Given the description of an element on the screen output the (x, y) to click on. 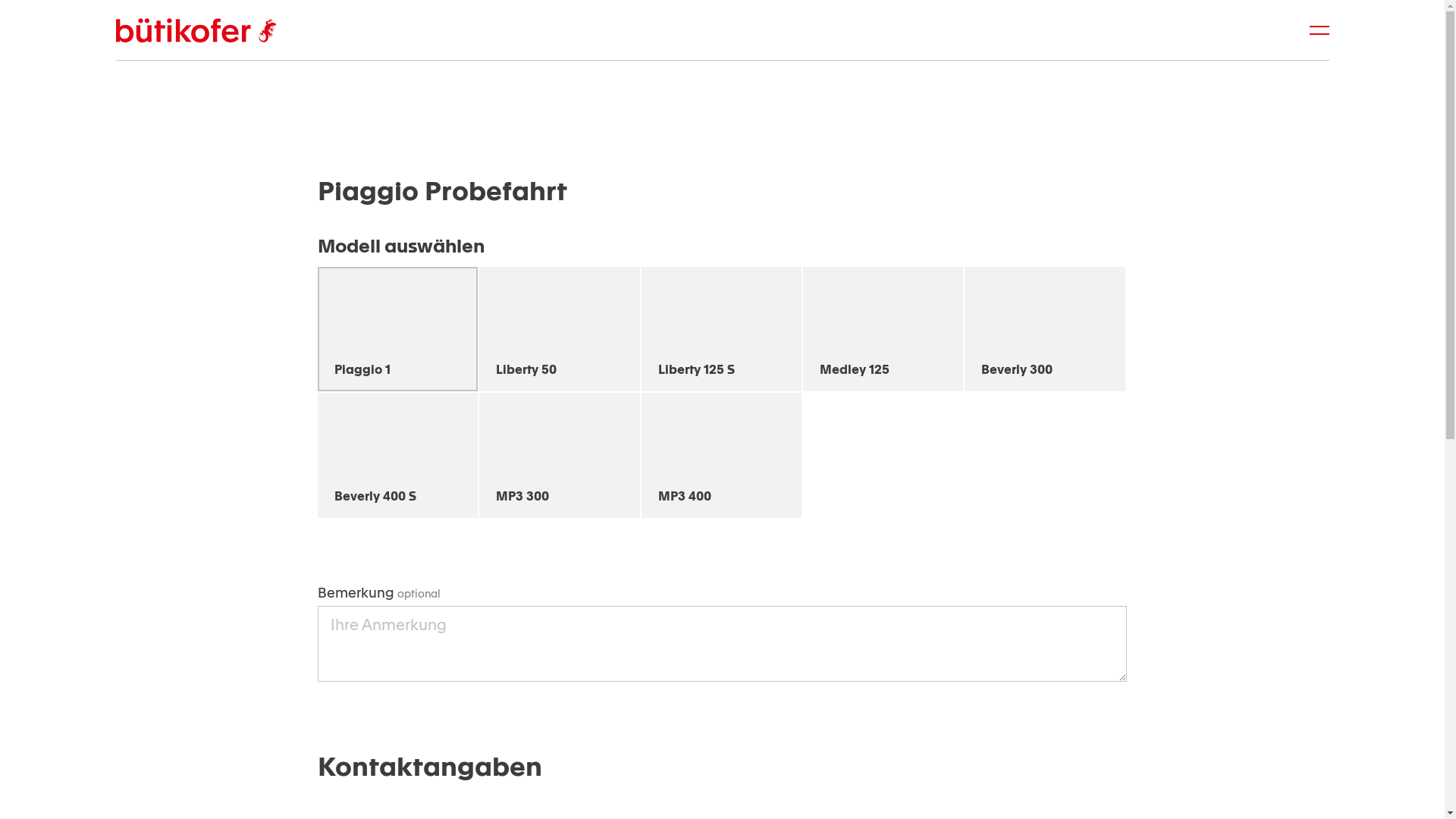
Kategorie-Navigation anzeigen Element type: text (1319, 30)
